Given the description of an element on the screen output the (x, y) to click on. 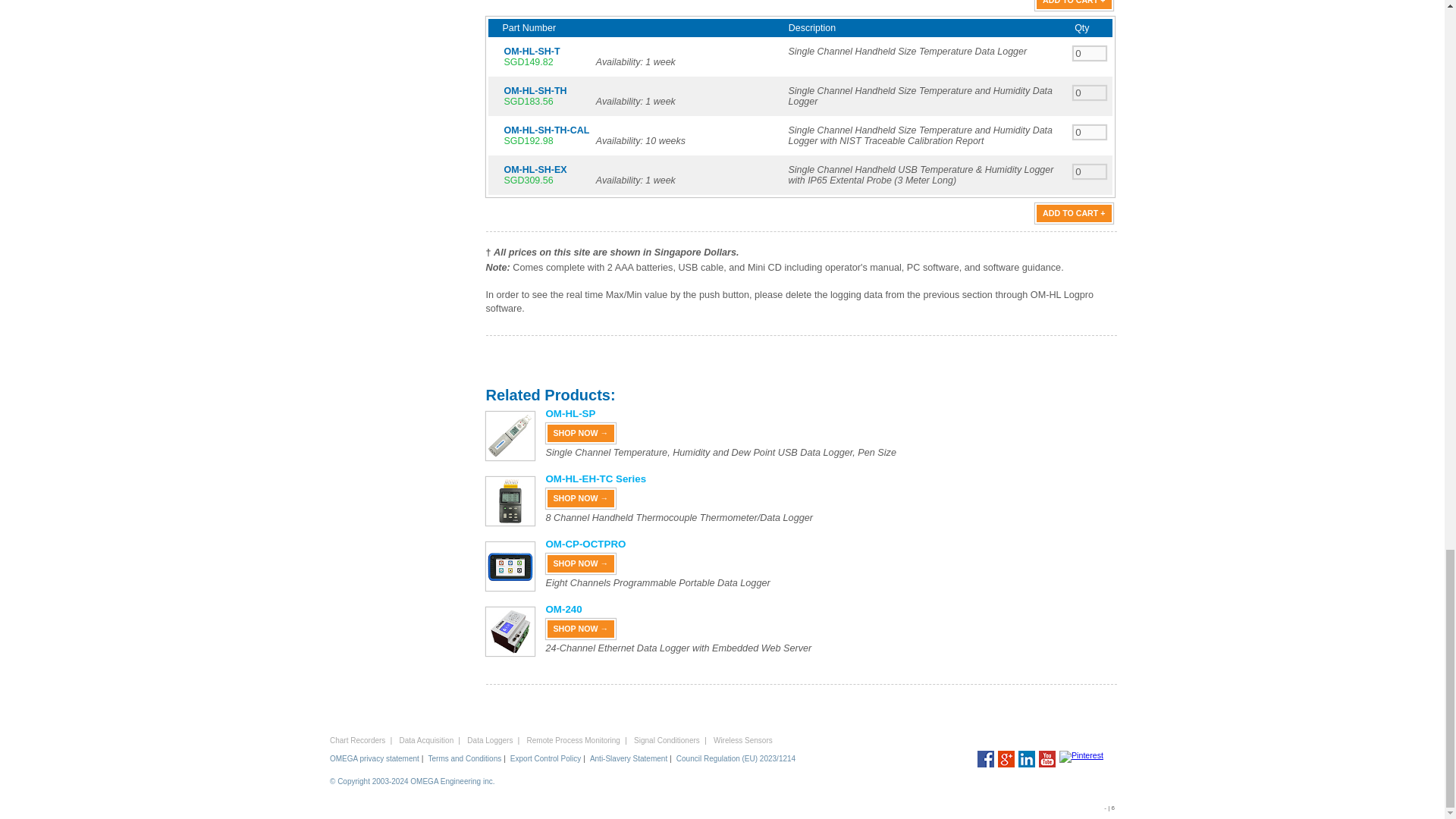
0 (1089, 52)
0 (1089, 171)
0 (1089, 132)
0 (1089, 92)
